Given the description of an element on the screen output the (x, y) to click on. 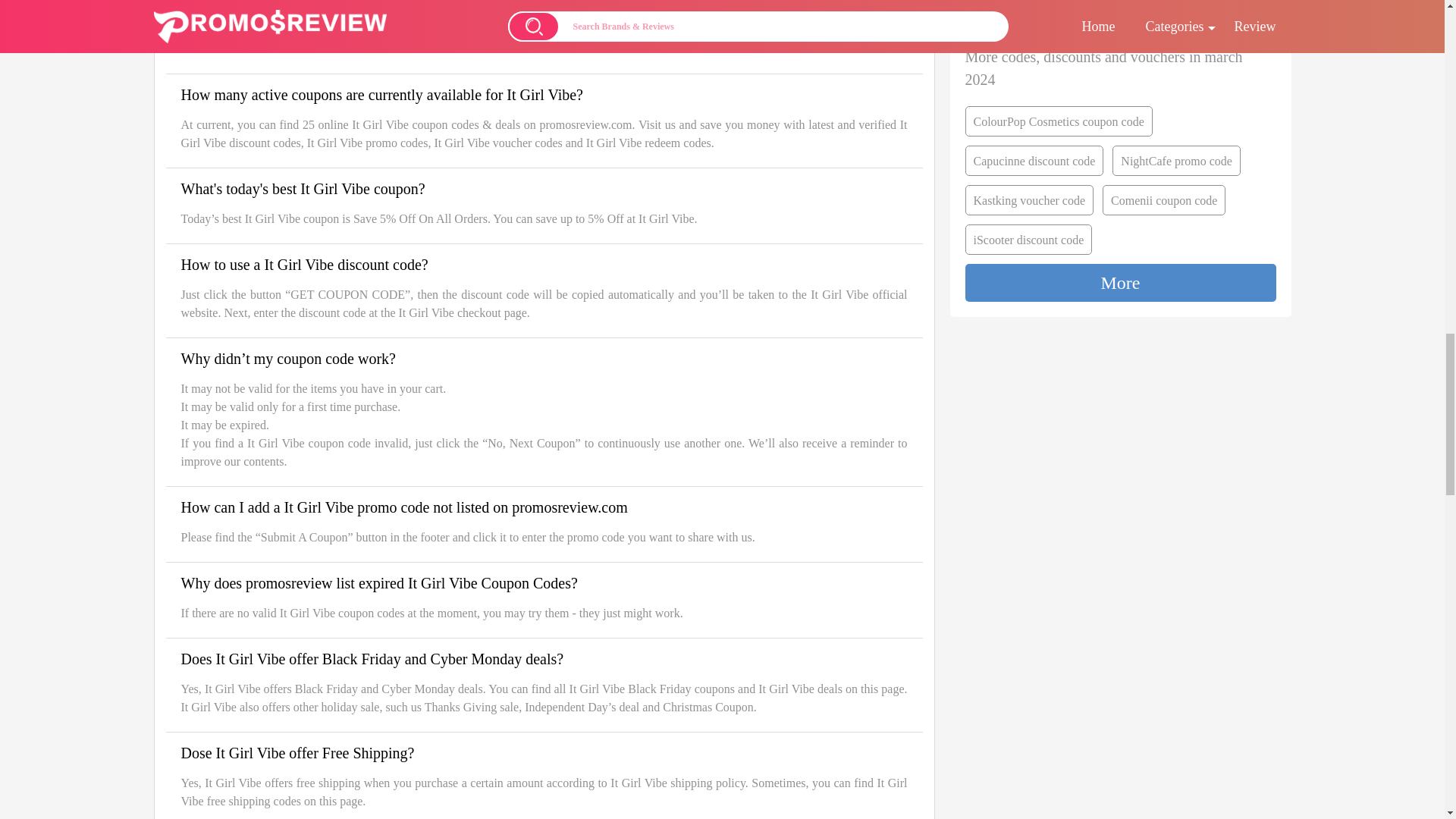
iScooter discount code (1027, 239)
Kastking voucher code (1028, 200)
Comenii coupon code (1163, 200)
NightCafe promo code (1176, 160)
Capucinne discount code (1033, 160)
ColourPop Cosmetics coupon code (1057, 121)
